Given the description of an element on the screen output the (x, y) to click on. 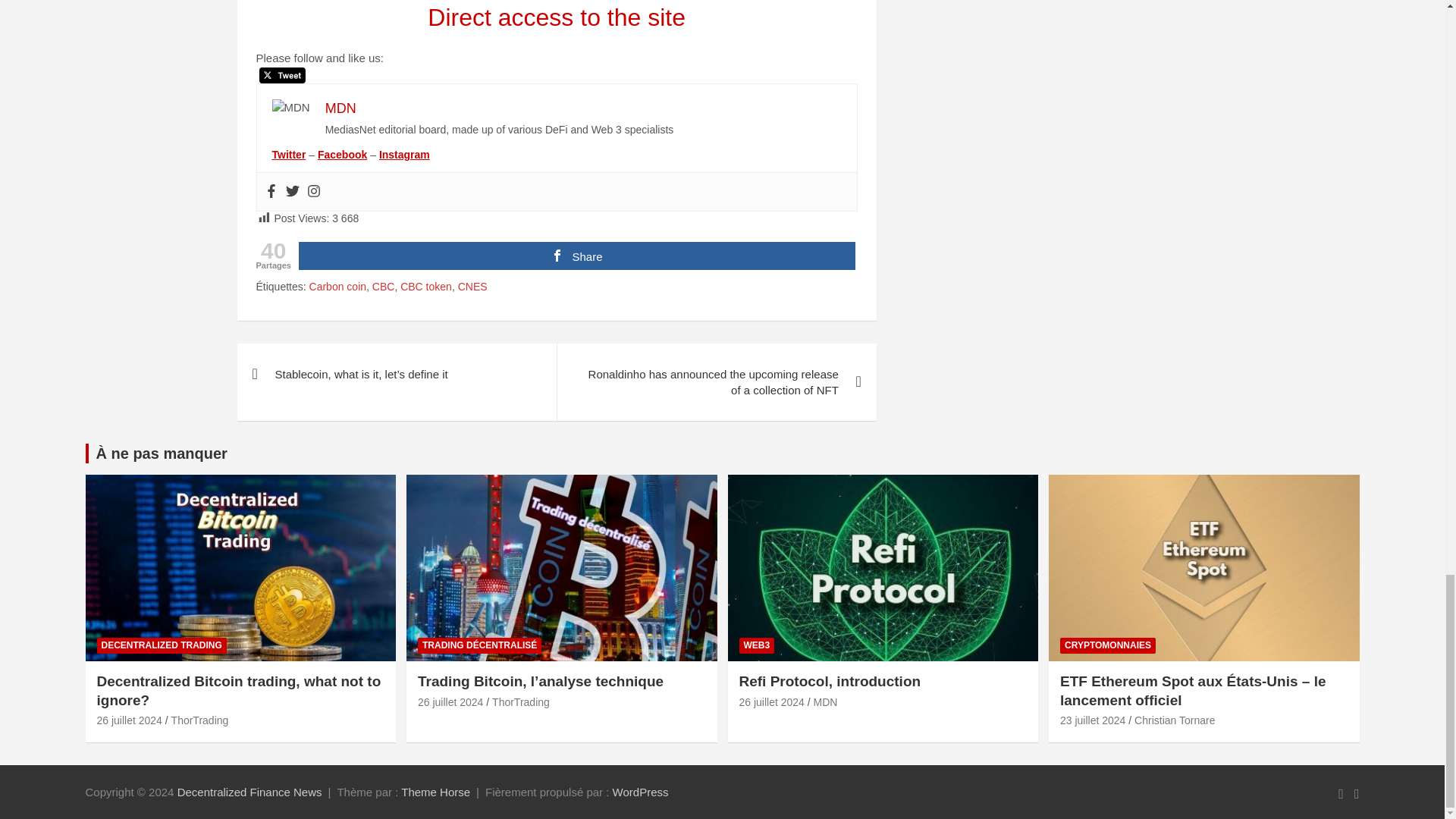
WordPress (640, 791)
Facebook (270, 191)
Instagram (312, 191)
Twitter (291, 191)
Refi Protocol, introduction (770, 702)
Tweet (282, 75)
Decentralized Finance News (249, 791)
Direct access to the site (556, 17)
Twitter (287, 154)
Decentralized Bitcoin trading, what not to ignore? (129, 720)
MDN (340, 108)
Theme Horse (435, 791)
